Given the description of an element on the screen output the (x, y) to click on. 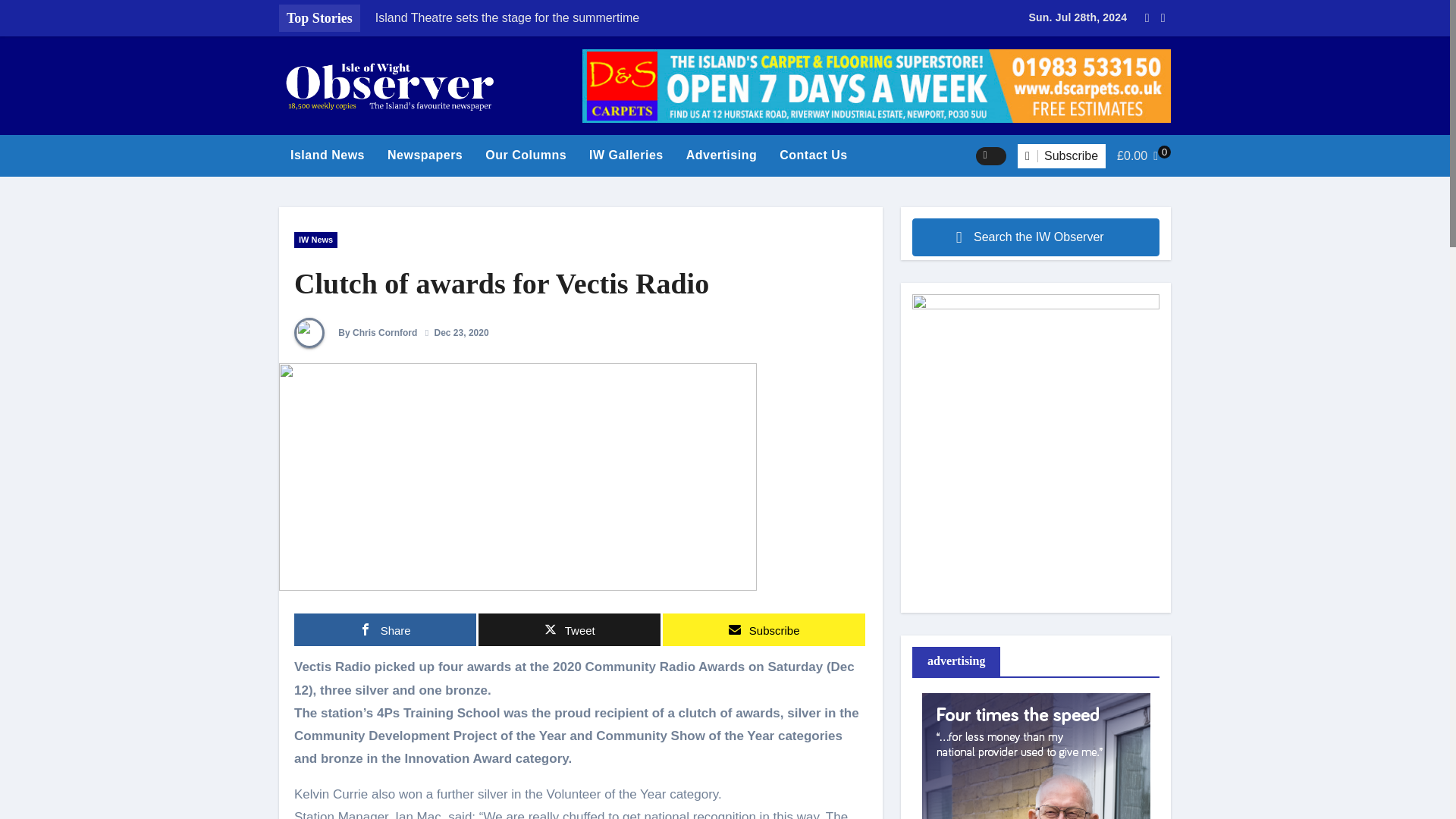
Island News (327, 155)
Newspapers (424, 155)
Our Columns (526, 155)
